Given the description of an element on the screen output the (x, y) to click on. 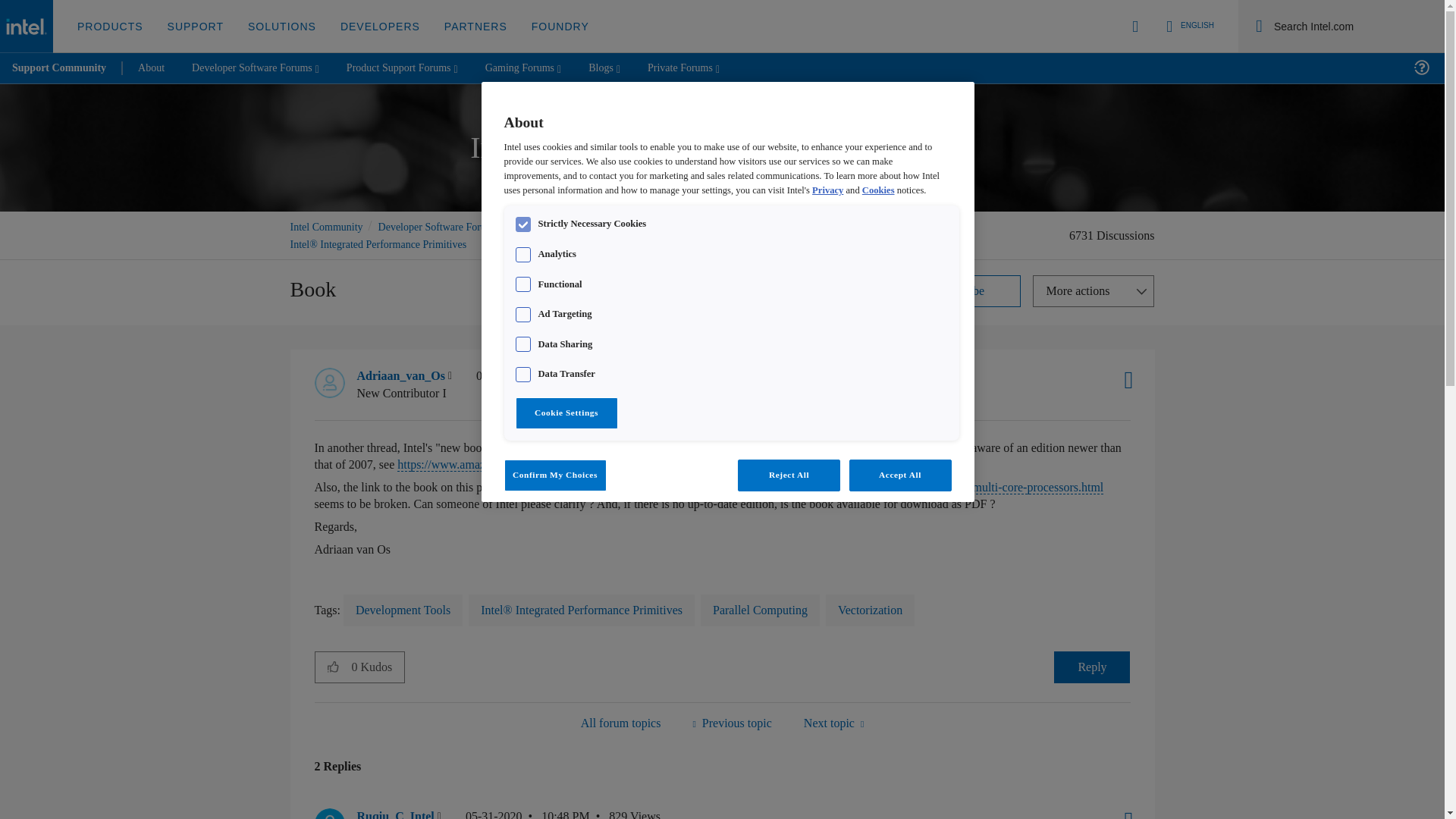
ippsECCPSignDSA function call fail ! (833, 722)
Show option menu (1123, 807)
PRODUCTS (110, 26)
Click here to give kudos to this post. (332, 665)
Show option menu (1093, 291)
The total number of kudos this post has received. (377, 666)
Posted on (537, 384)
Posted on (527, 813)
Language Selector (1187, 26)
